Given the description of an element on the screen output the (x, y) to click on. 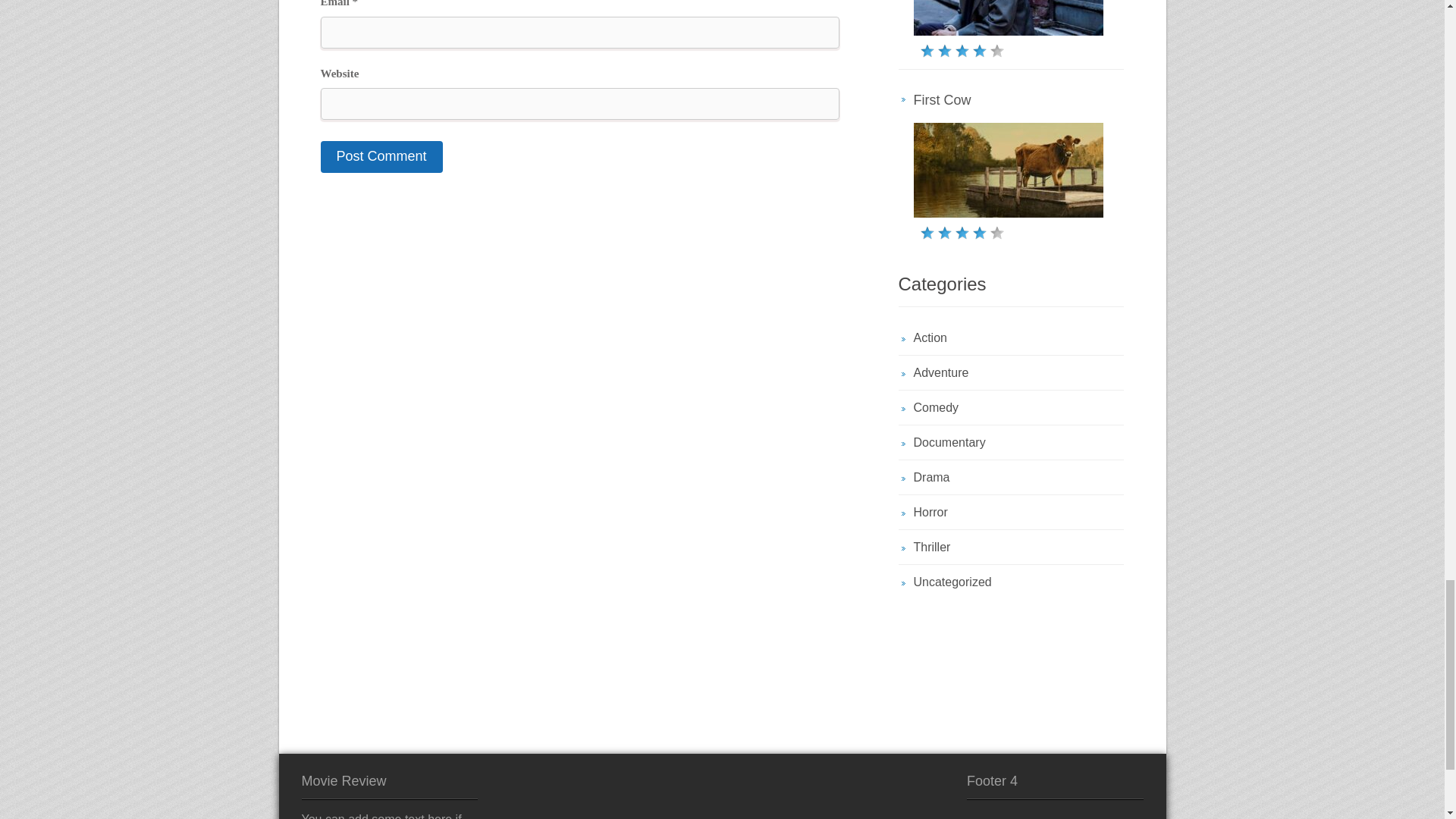
Action (929, 337)
Post Comment (381, 156)
Post Comment (381, 156)
Adventure (940, 372)
First Cow (941, 99)
Comedy (935, 407)
First Cow (941, 99)
